Given the description of an element on the screen output the (x, y) to click on. 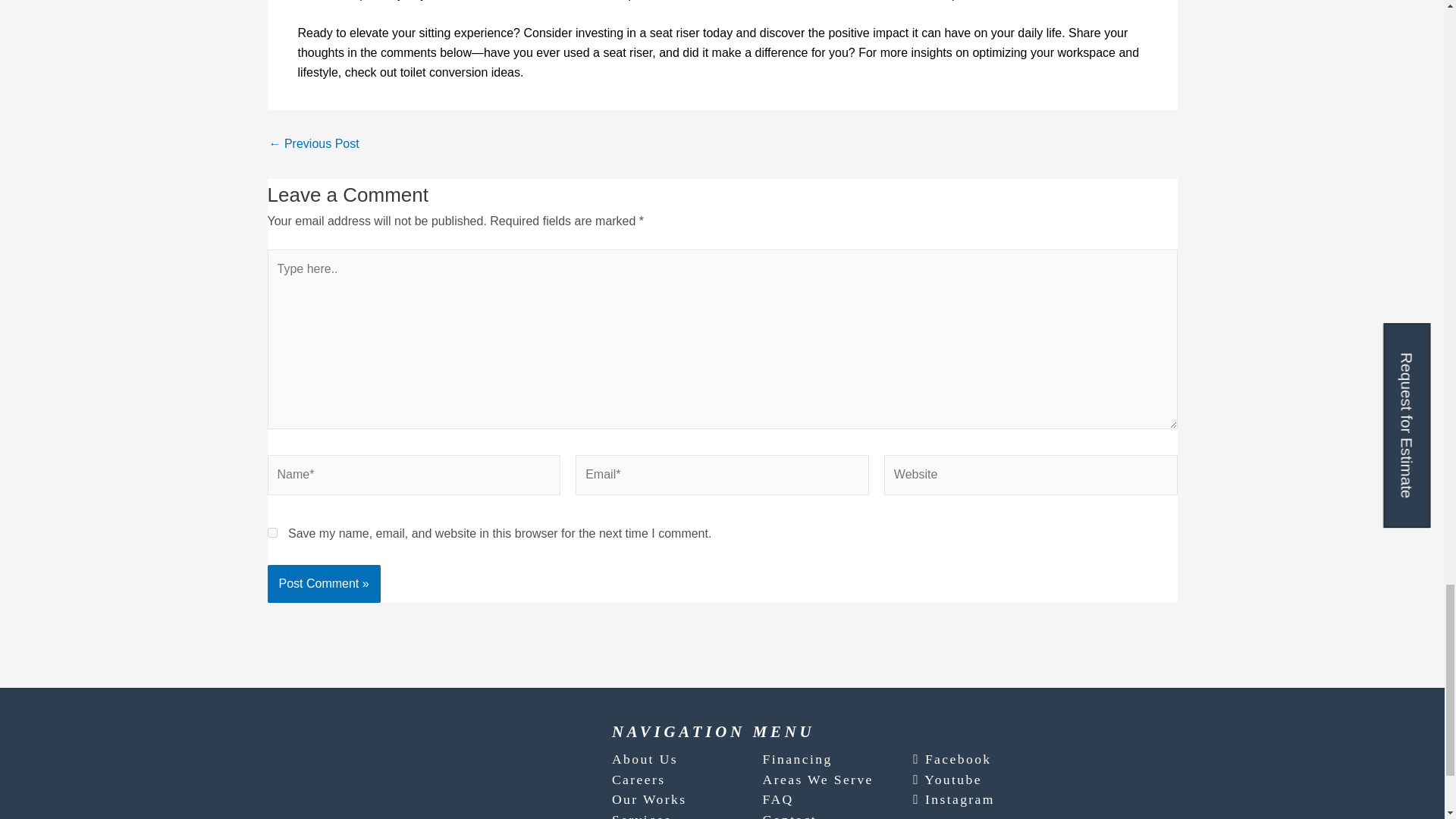
Safety vs. Convenience: Walk-In Tub Pros and Cons (312, 143)
yes (271, 532)
